Given the description of an element on the screen output the (x, y) to click on. 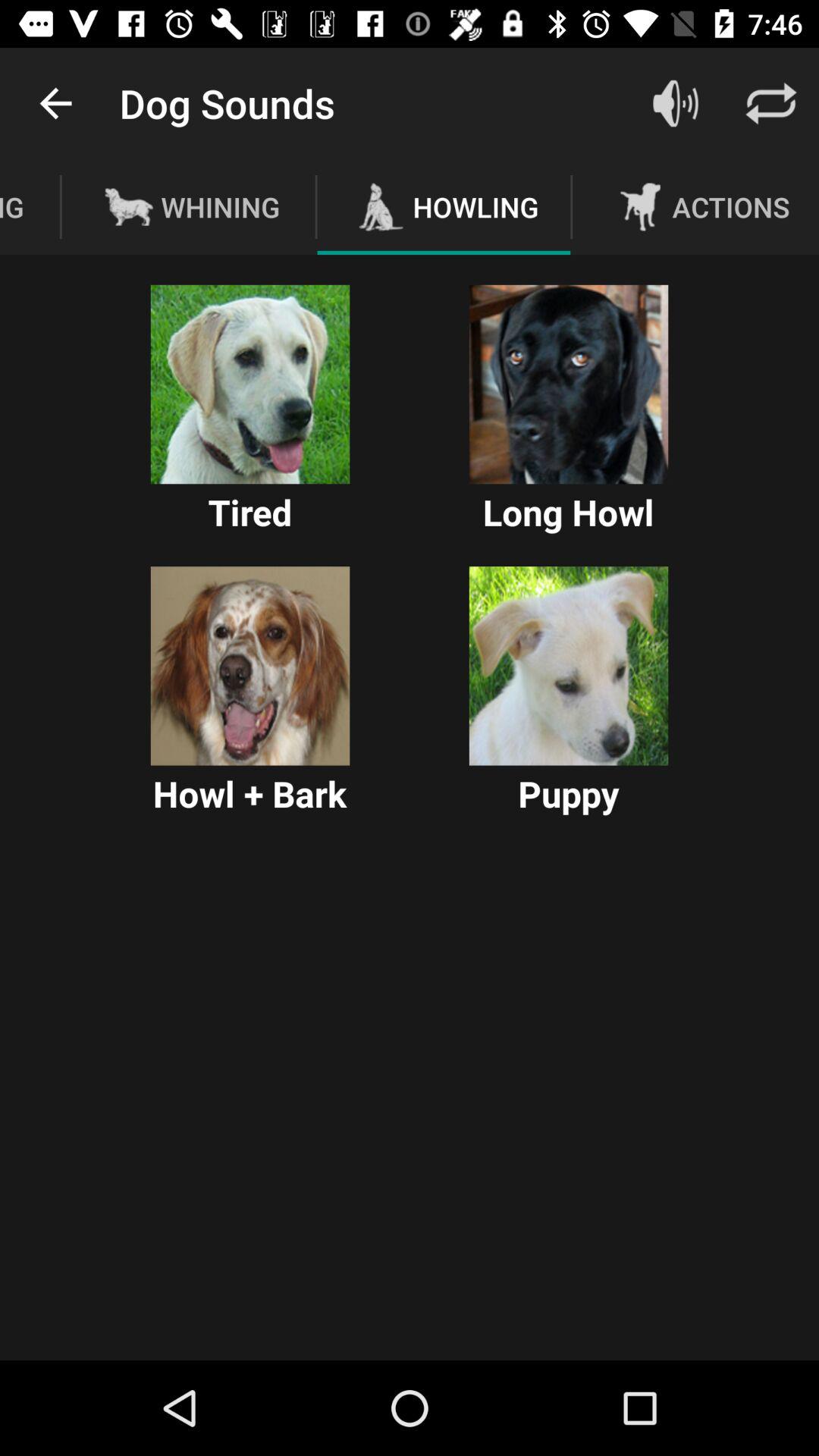
click the item above the actions icon (675, 103)
